Given the description of an element on the screen output the (x, y) to click on. 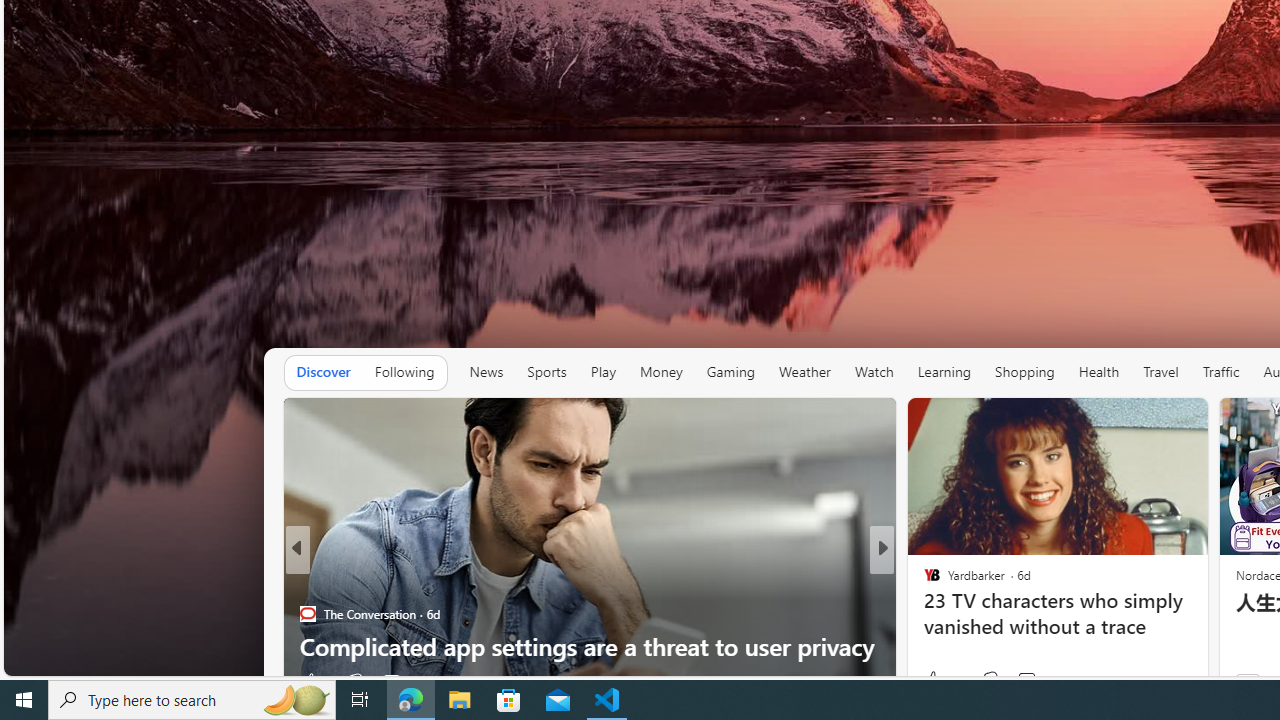
Learning (944, 372)
Traffic (1220, 371)
20 Like (934, 681)
Watch (874, 371)
Shopping (1025, 372)
Gaming (730, 372)
The Independent (923, 581)
View comments 2 Comment (1014, 681)
71 Like (934, 681)
